Given the description of an element on the screen output the (x, y) to click on. 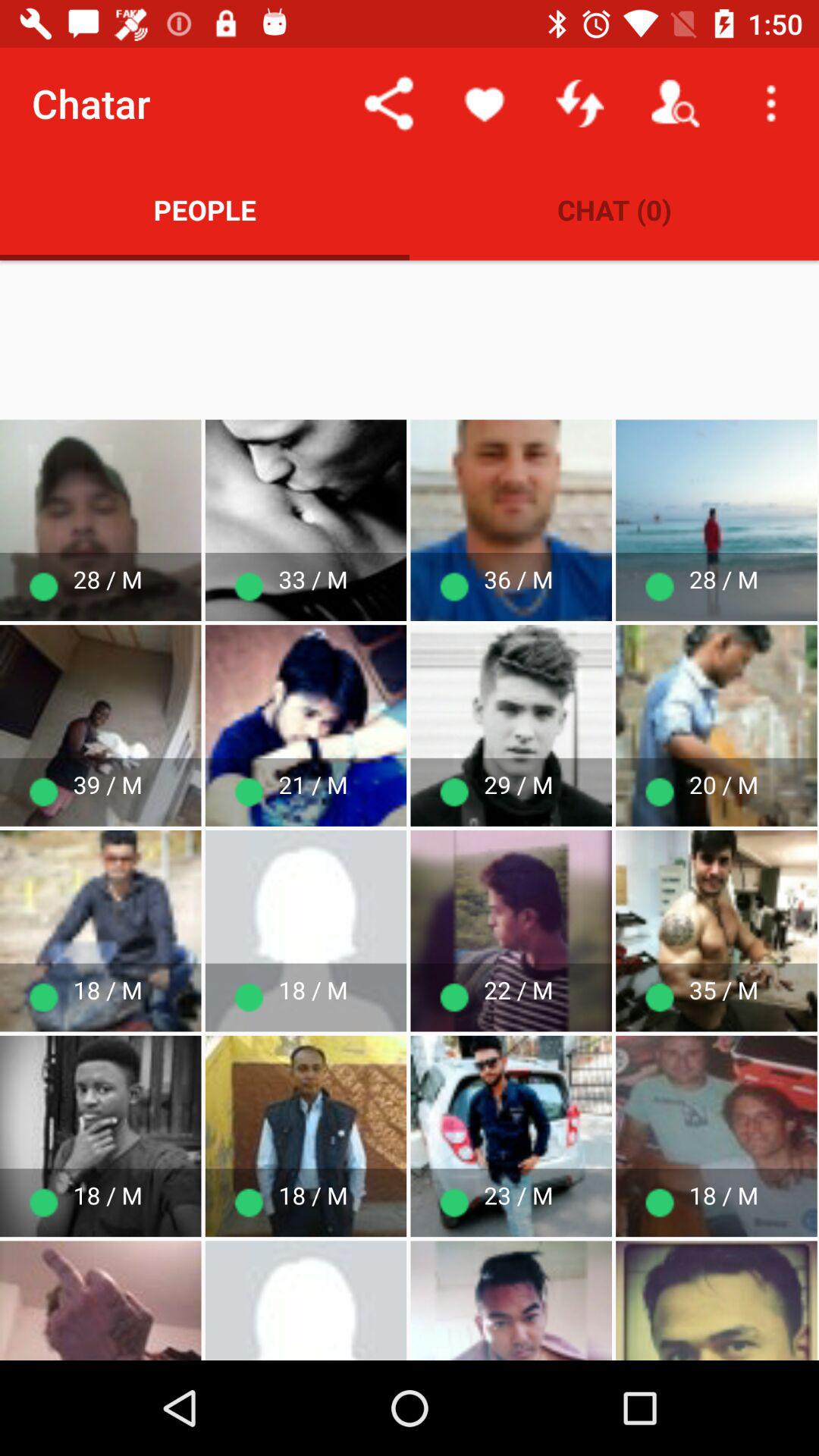
tap item next to the chatar icon (388, 103)
